Given the description of an element on the screen output the (x, y) to click on. 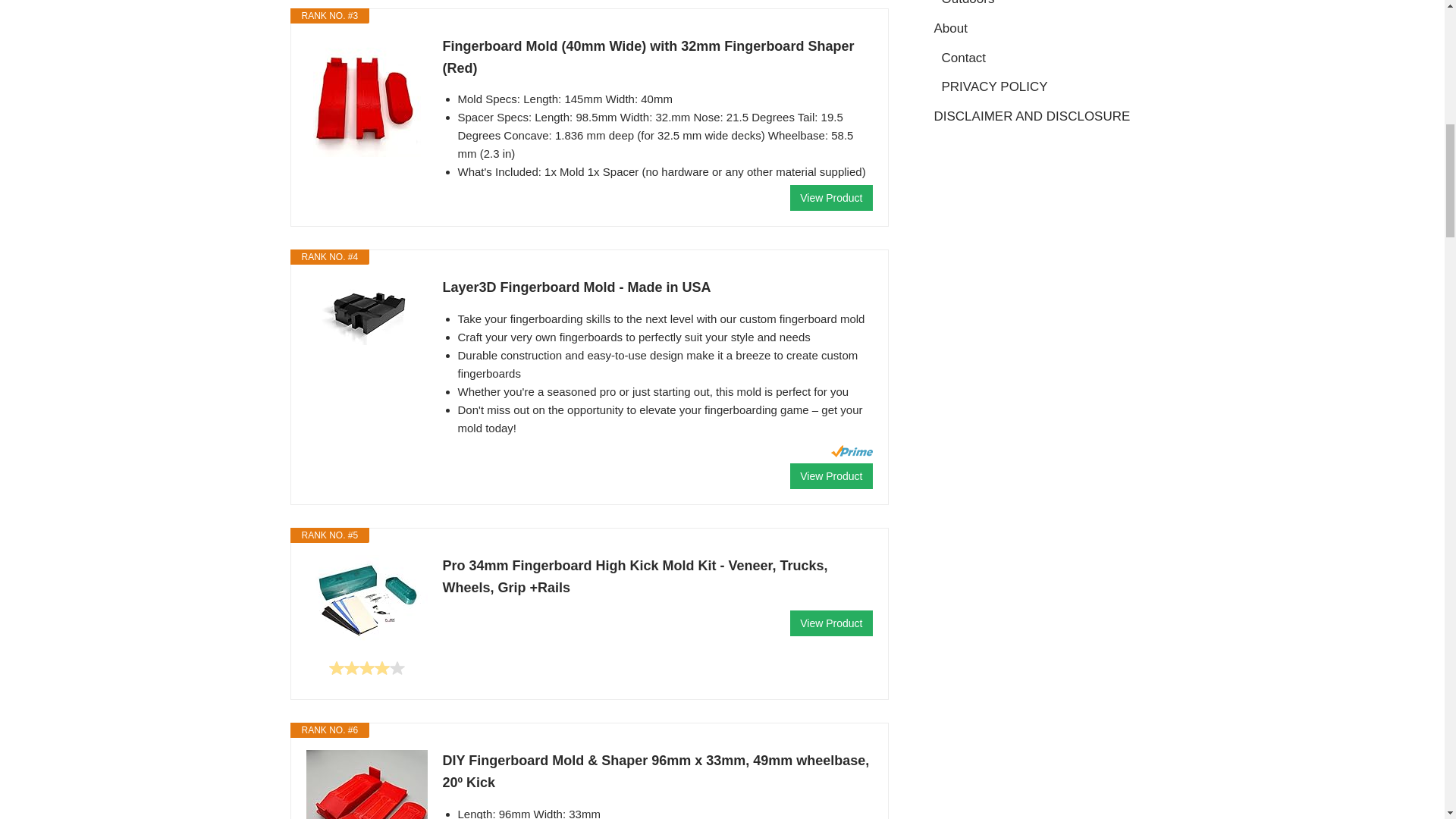
Layer3D Fingerboard Mold - Made in USA (366, 310)
View Product (831, 197)
